Given the description of an element on the screen output the (x, y) to click on. 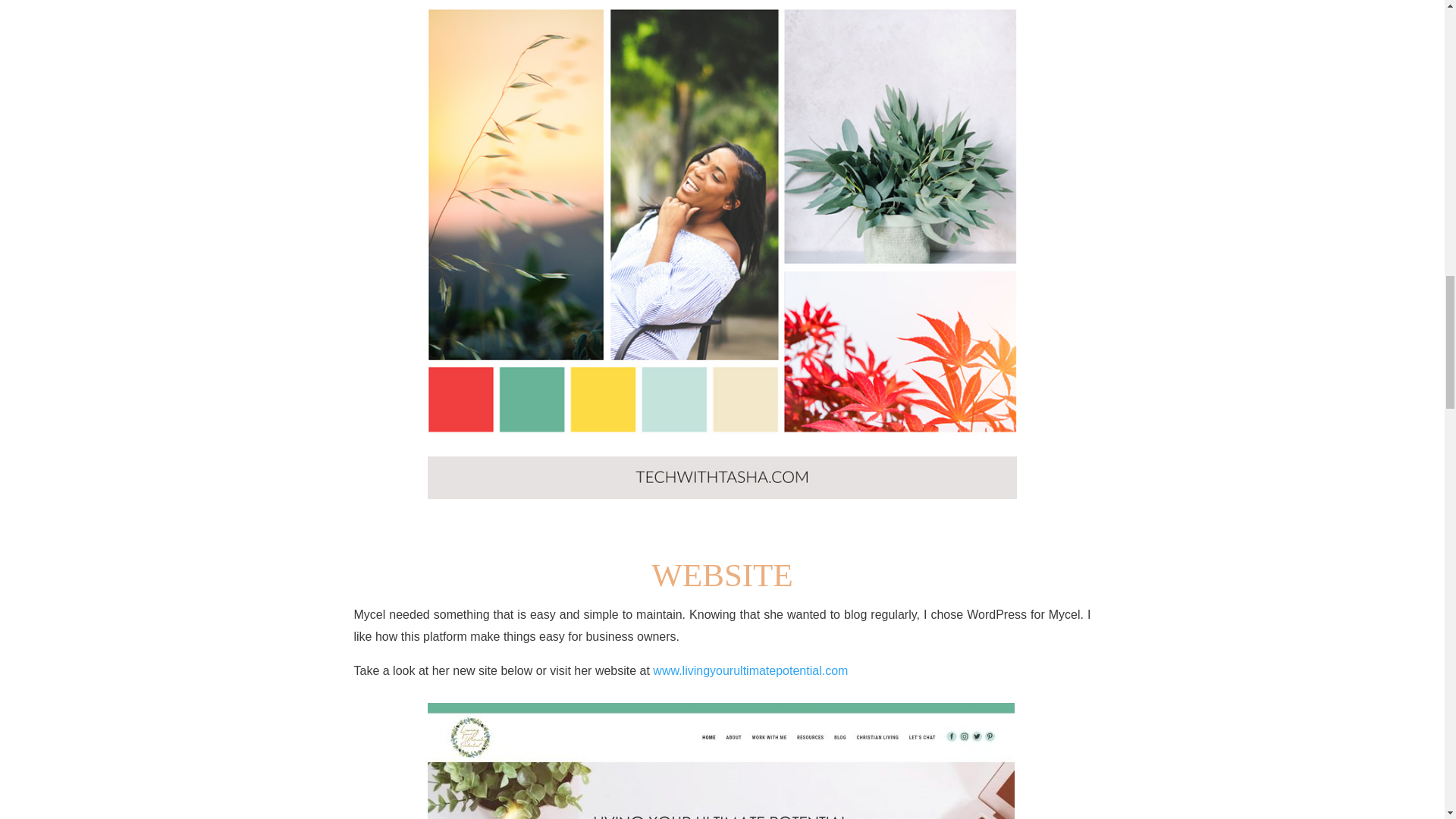
www.livingyourultimatepotential.com (749, 670)
